Given the description of an element on the screen output the (x, y) to click on. 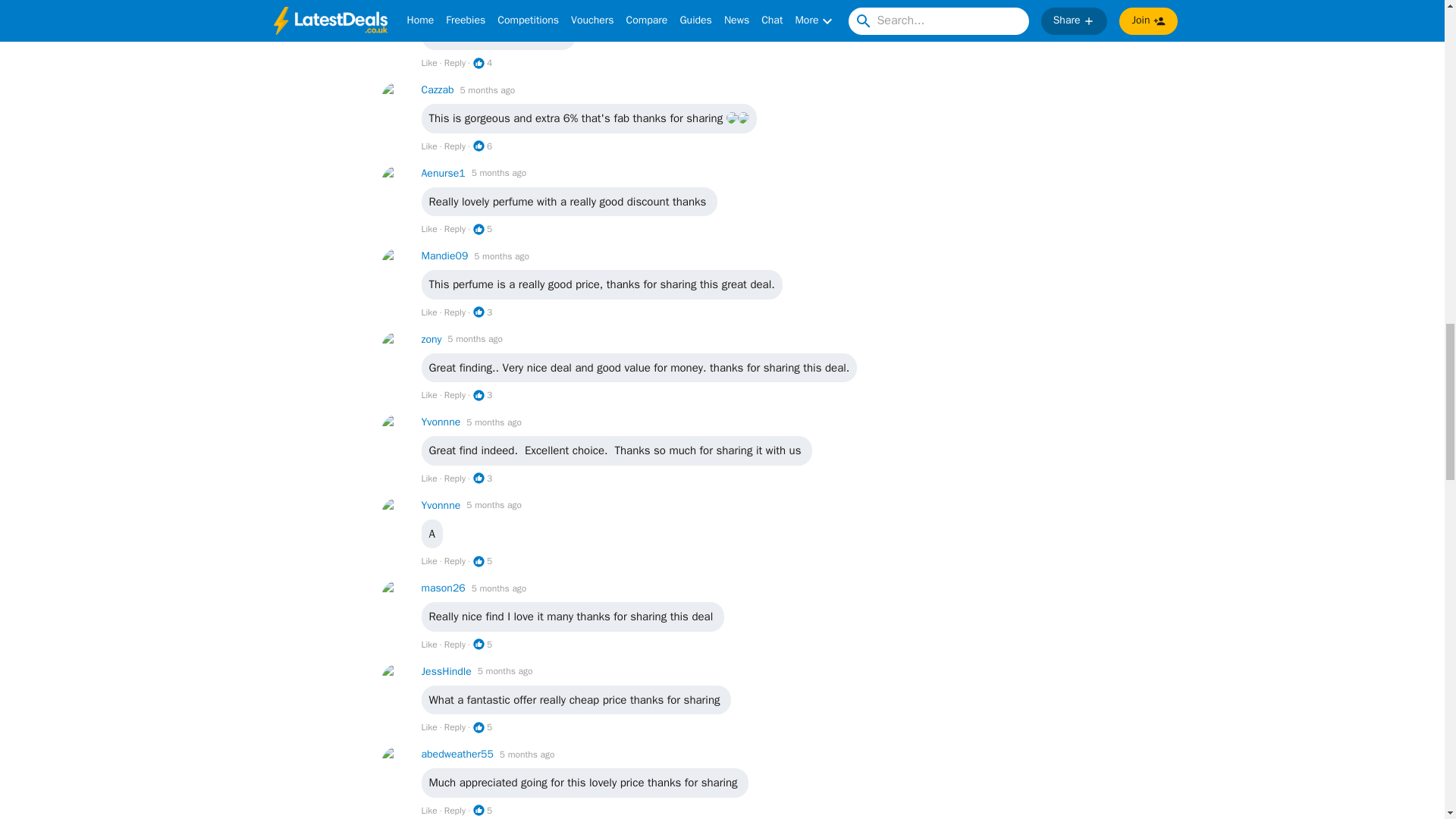
elfleur98 (442, 7)
JessHindle (446, 671)
abedweather55 (457, 754)
Mandie09 (445, 255)
Yvonnne (441, 421)
mason26 (443, 587)
Aenurse1 (443, 172)
Yvonnne (441, 505)
zony (432, 339)
Cazzab (438, 89)
